Given the description of an element on the screen output the (x, y) to click on. 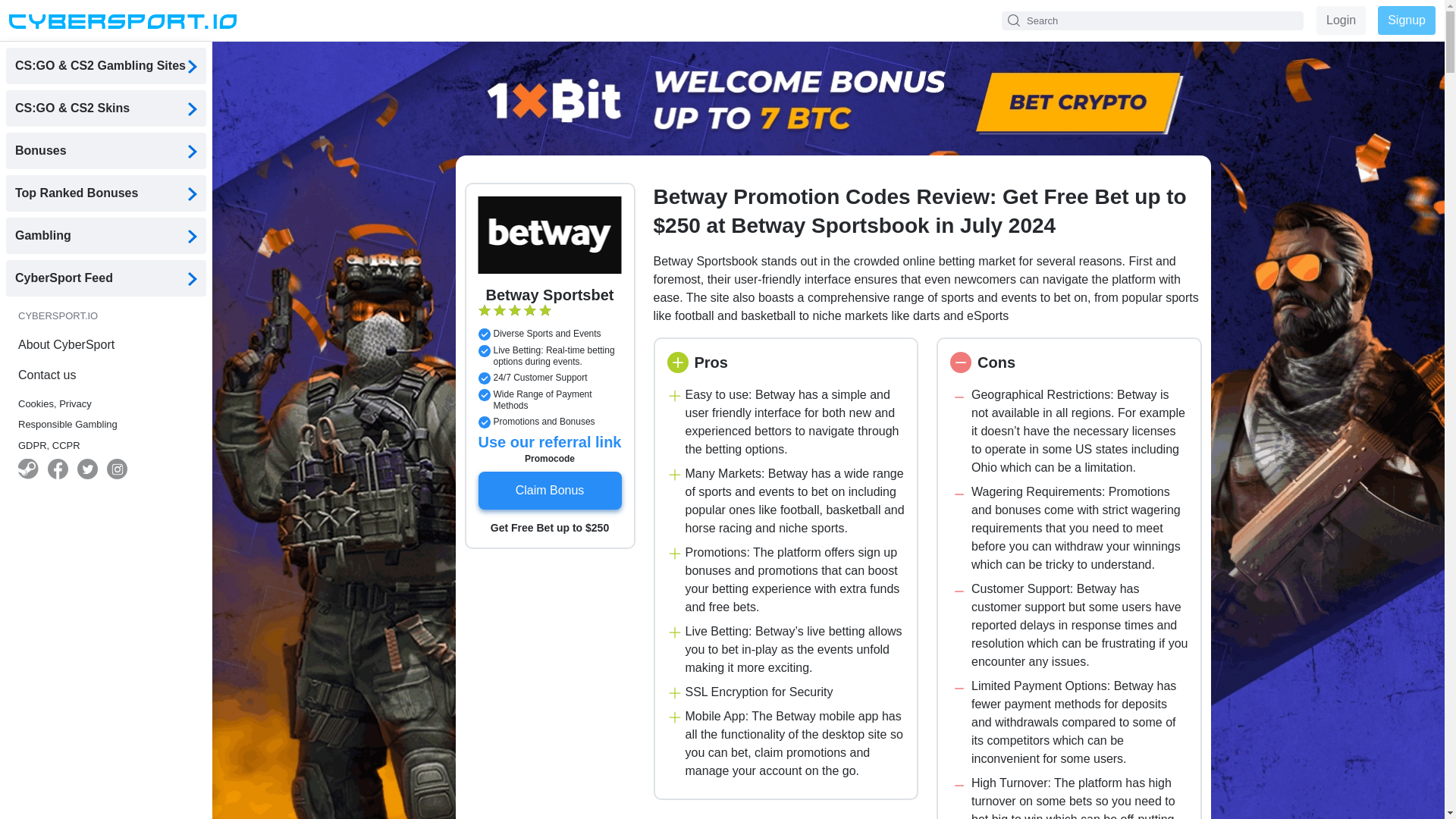
Type to search (1152, 19)
Bonuses (105, 150)
Login (1340, 20)
Gambling (105, 235)
Signup (1406, 20)
Top Ranked Bonuses (105, 193)
Go to Home Page (121, 20)
